Given the description of an element on the screen output the (x, y) to click on. 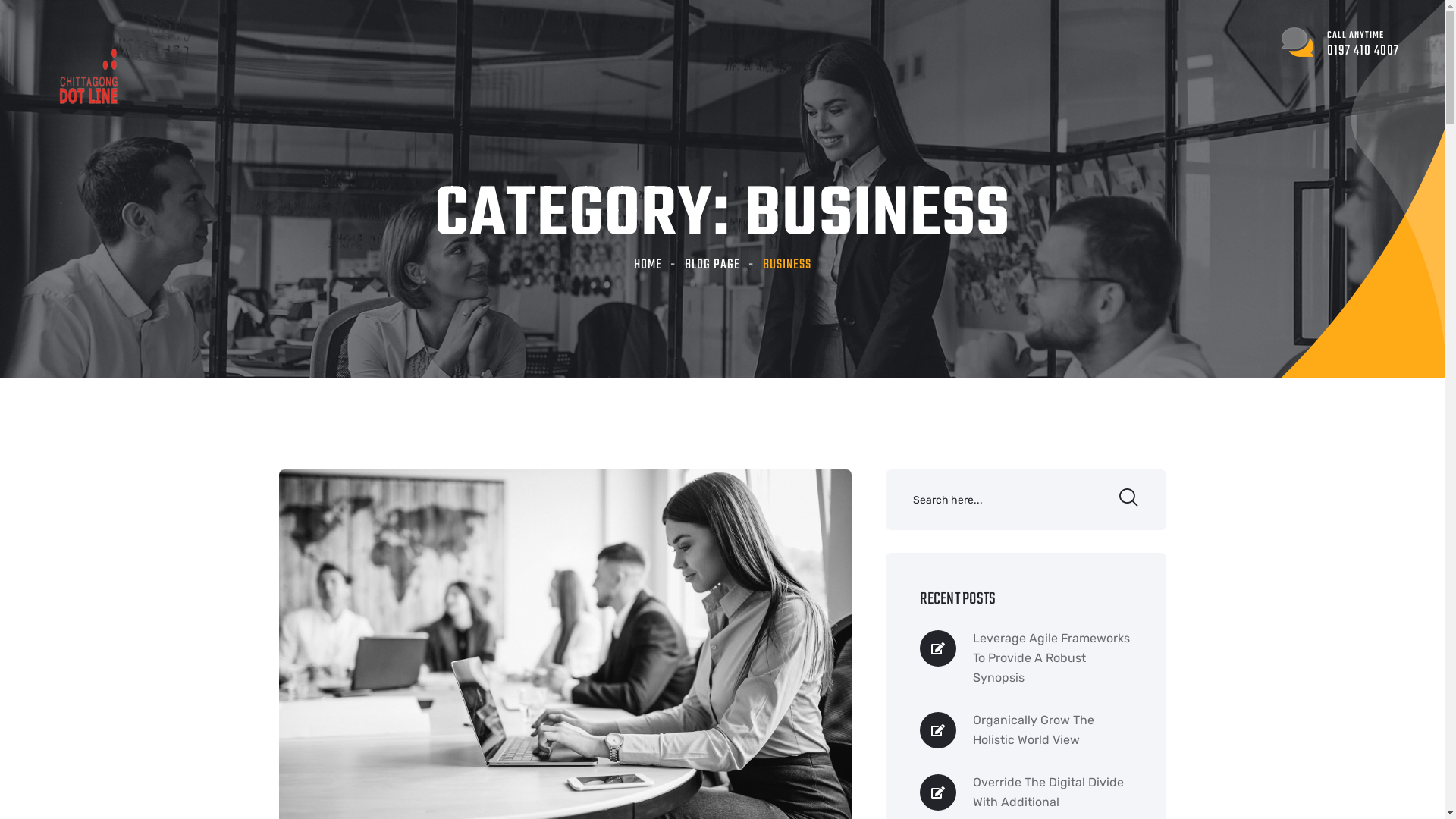
Leverage Agile Frameworks To Provide A Robust Synopsis Element type: text (1051, 657)
Override The Digital Divide With Additional Element type: text (1051, 792)
BLOG PAGE Element type: text (711, 265)
Organically Grow The Holistic World View Element type: text (1051, 729)
CALL ANYTIME
0197 410 4007 Element type: text (1340, 42)
HOME Element type: text (647, 265)
